Given the description of an element on the screen output the (x, y) to click on. 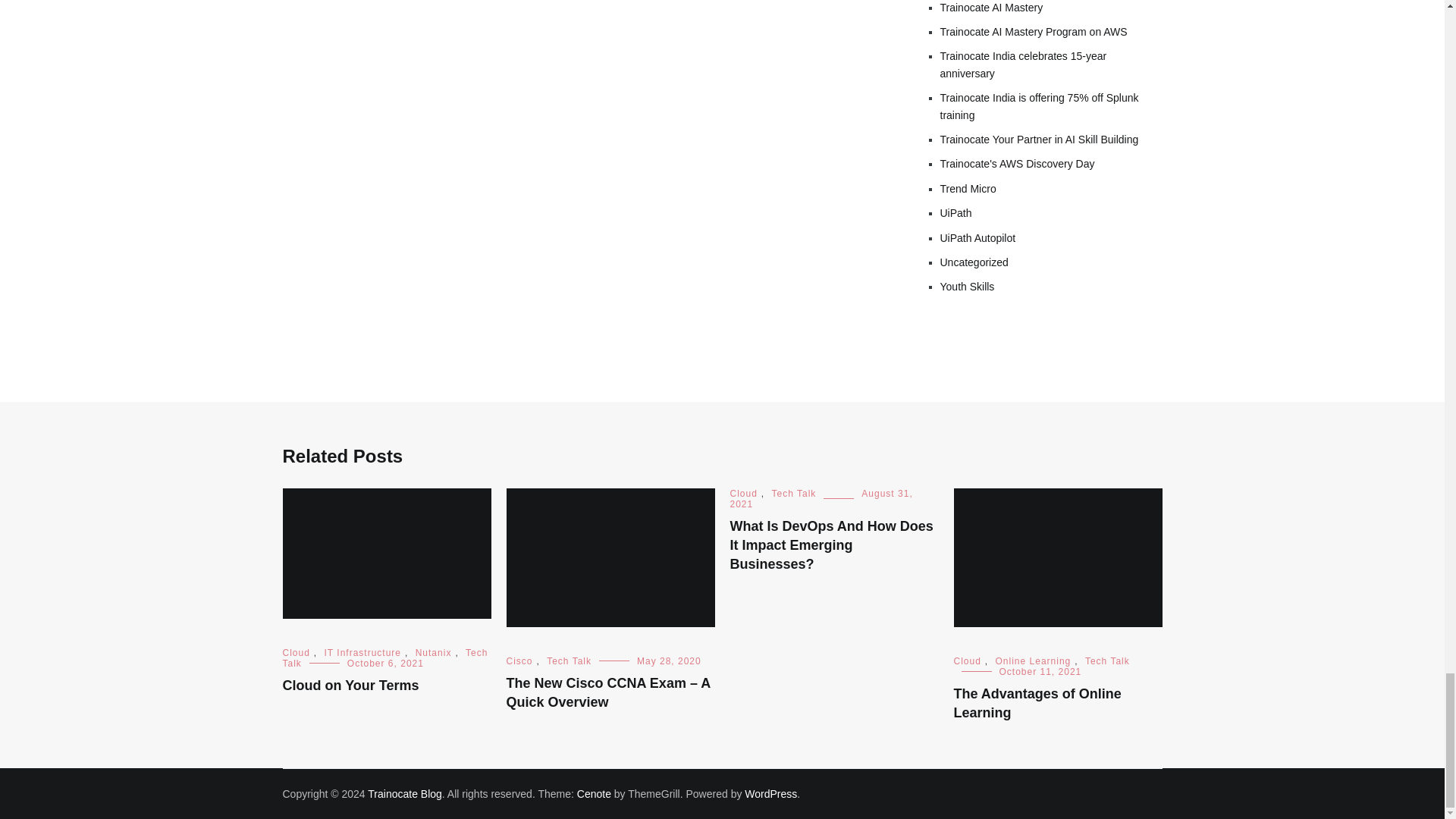
Trainocate Blog (405, 793)
